Given the description of an element on the screen output the (x, y) to click on. 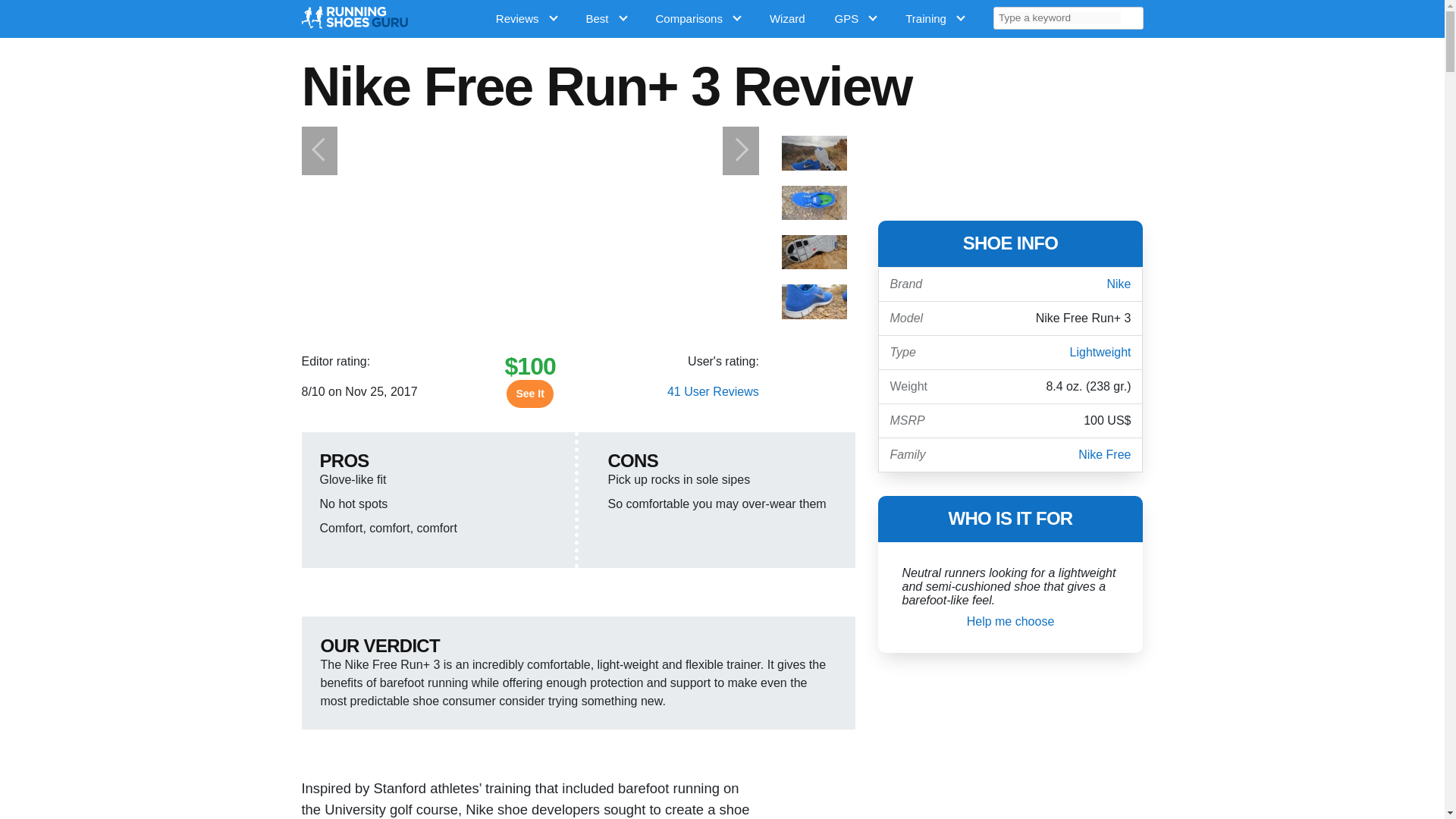
Best Running Shoes (610, 18)
Reviews (529, 18)
